Given the description of an element on the screen output the (x, y) to click on. 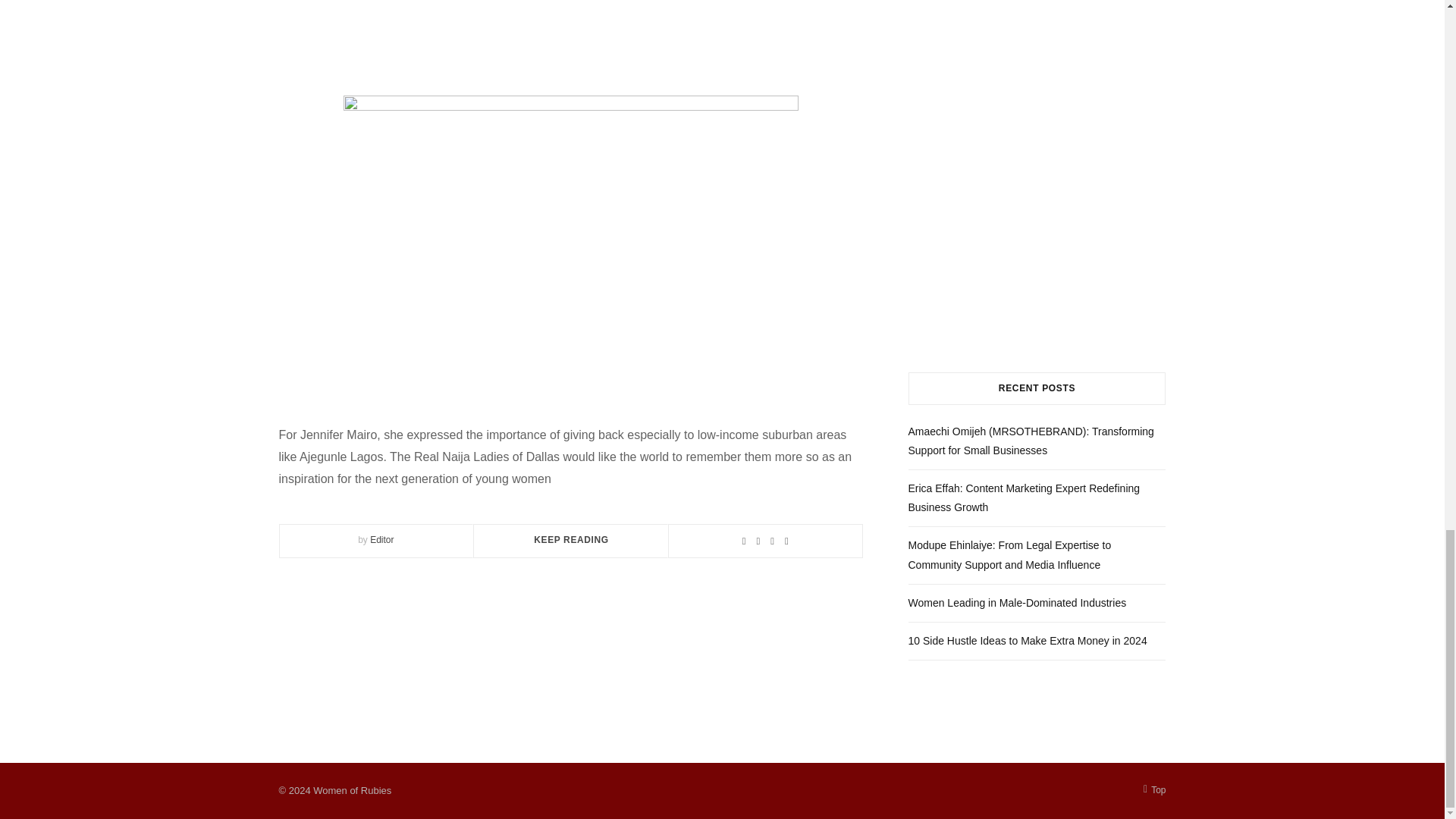
Editor (381, 539)
Posts by Editor (381, 539)
Women Leading in Male-Dominated Industries (1017, 603)
10 Side Hustle Ideas to Make Extra Money in 2024 (1027, 640)
KEEP READING (571, 539)
